Given the description of an element on the screen output the (x, y) to click on. 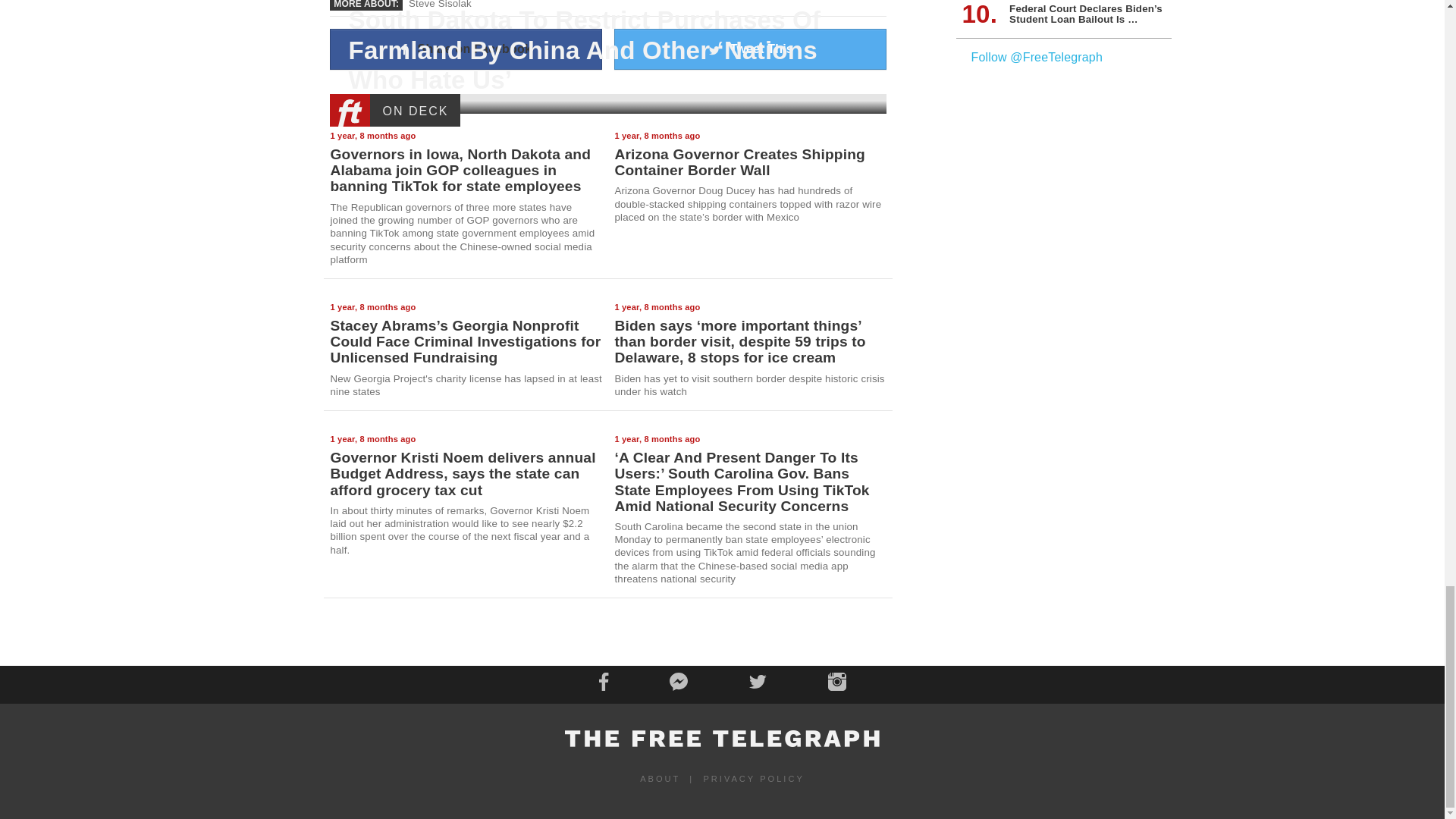
Steve Sisolak (440, 4)
Share on Facebook (466, 48)
Tweet This (750, 48)
